Given the description of an element on the screen output the (x, y) to click on. 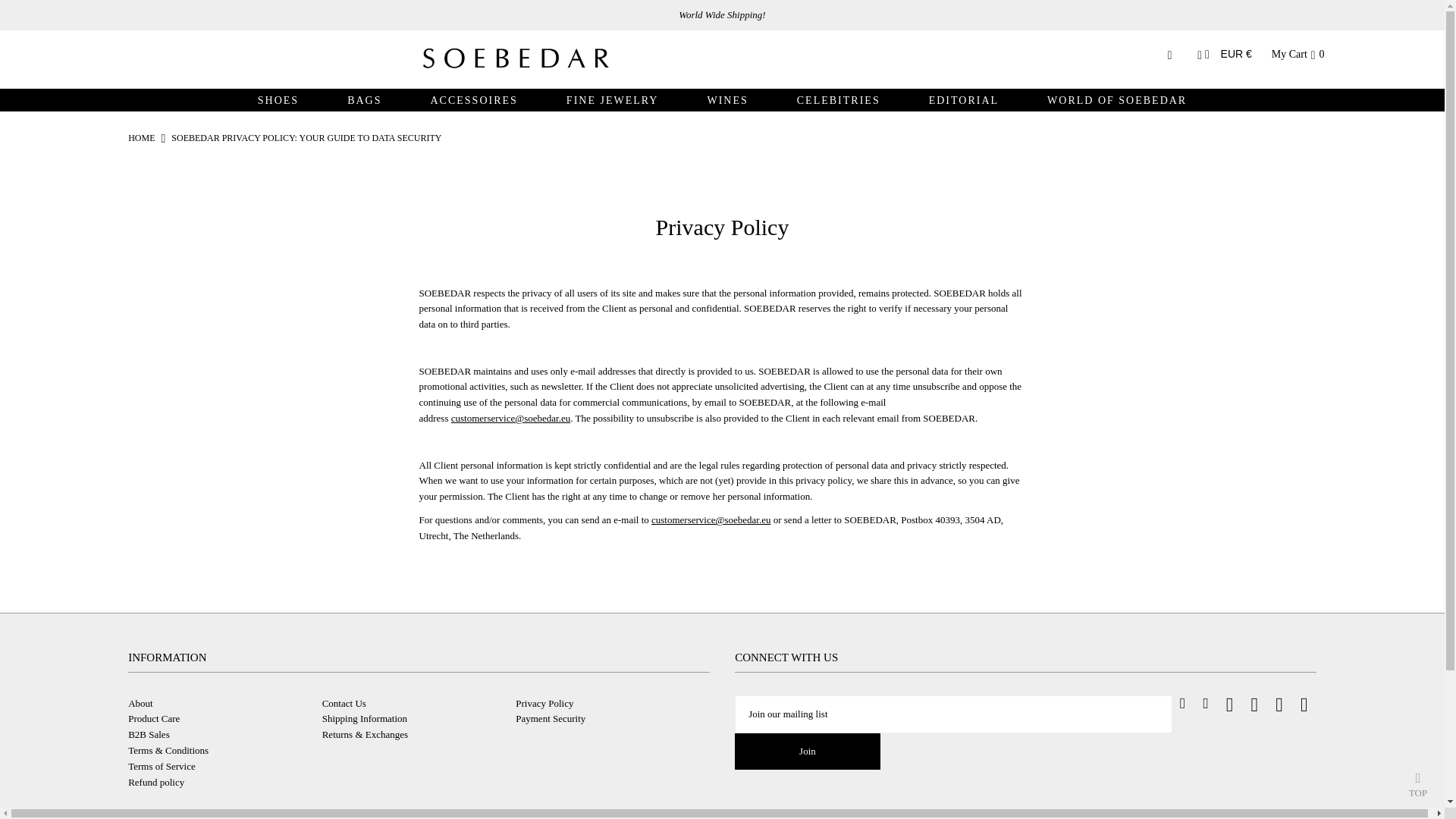
TOP (1417, 780)
BAGS (364, 100)
Home (141, 137)
SHOES (277, 100)
Join (807, 751)
